Given the description of an element on the screen output the (x, y) to click on. 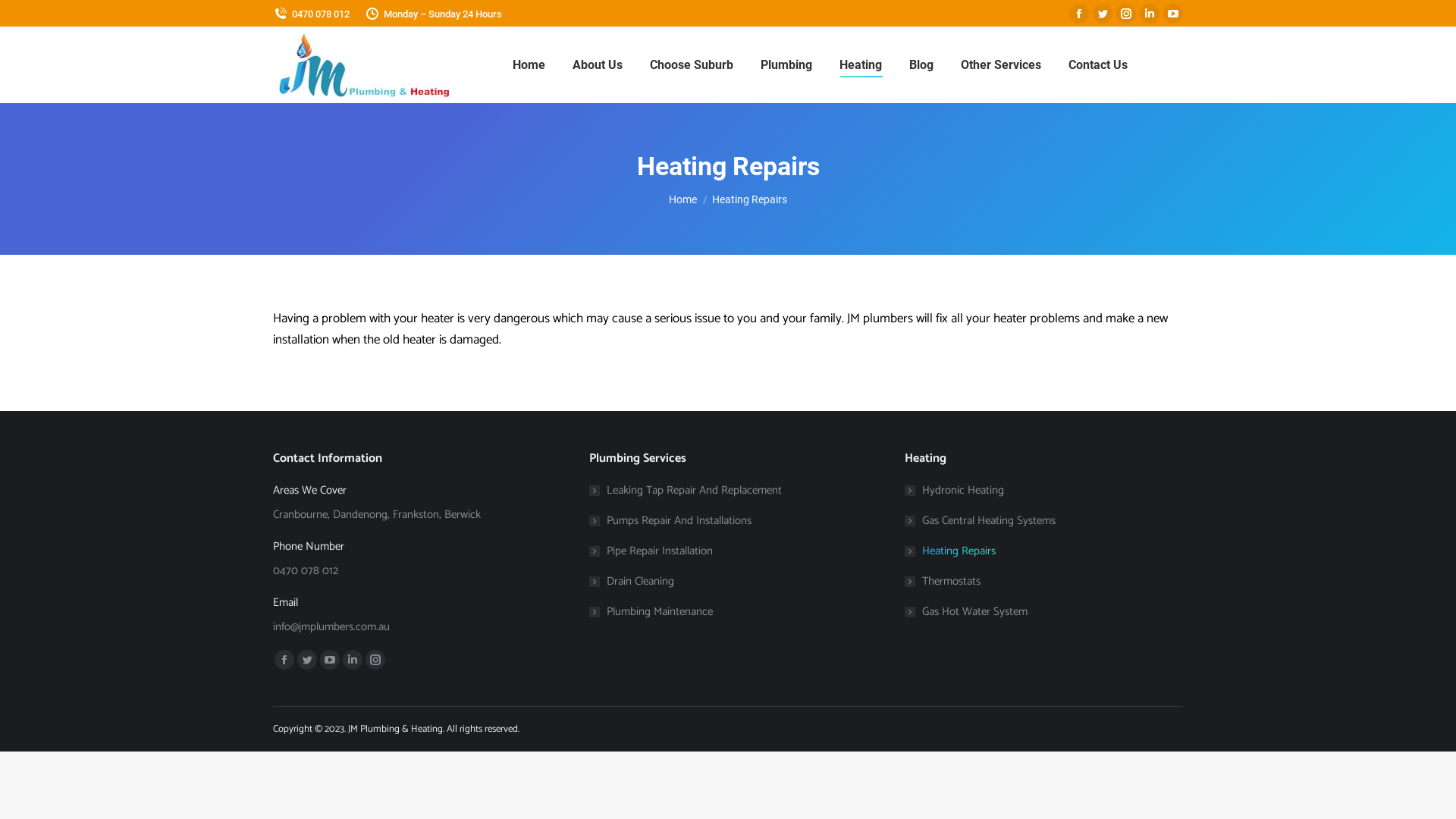
Leaking Tap Repair And Replacement Element type: text (685, 490)
Plumbing Maintenance Element type: text (650, 611)
Gas Hot Water System Element type: text (965, 611)
Facebook page opens in new window Element type: text (1078, 13)
Home Element type: text (682, 199)
Pipe Repair Installation Element type: text (650, 550)
Twitter page opens in new window Element type: text (306, 659)
Linkedin page opens in new window Element type: text (352, 659)
Contact Us Element type: text (1096, 64)
About Us Element type: text (596, 64)
Pumps Repair And Installations Element type: text (670, 520)
Home Element type: text (528, 64)
Linkedin page opens in new window Element type: text (1149, 13)
Plumbing Element type: text (785, 64)
Instagram page opens in new window Element type: text (375, 659)
Hydronic Heating Element type: text (954, 490)
Heating Repairs Element type: text (949, 550)
Choose Suburb Element type: text (690, 64)
Facebook page opens in new window Element type: text (284, 659)
Instagram page opens in new window Element type: text (1125, 13)
Blog Element type: text (920, 64)
Twitter page opens in new window Element type: text (1102, 13)
Drain Cleaning Element type: text (631, 581)
Other Services Element type: text (1000, 64)
YouTube page opens in new window Element type: text (329, 659)
Heating Element type: text (859, 64)
Thermostats Element type: text (942, 581)
Gas Central Heating Systems Element type: text (979, 520)
YouTube page opens in new window Element type: text (1173, 13)
